Given the description of an element on the screen output the (x, y) to click on. 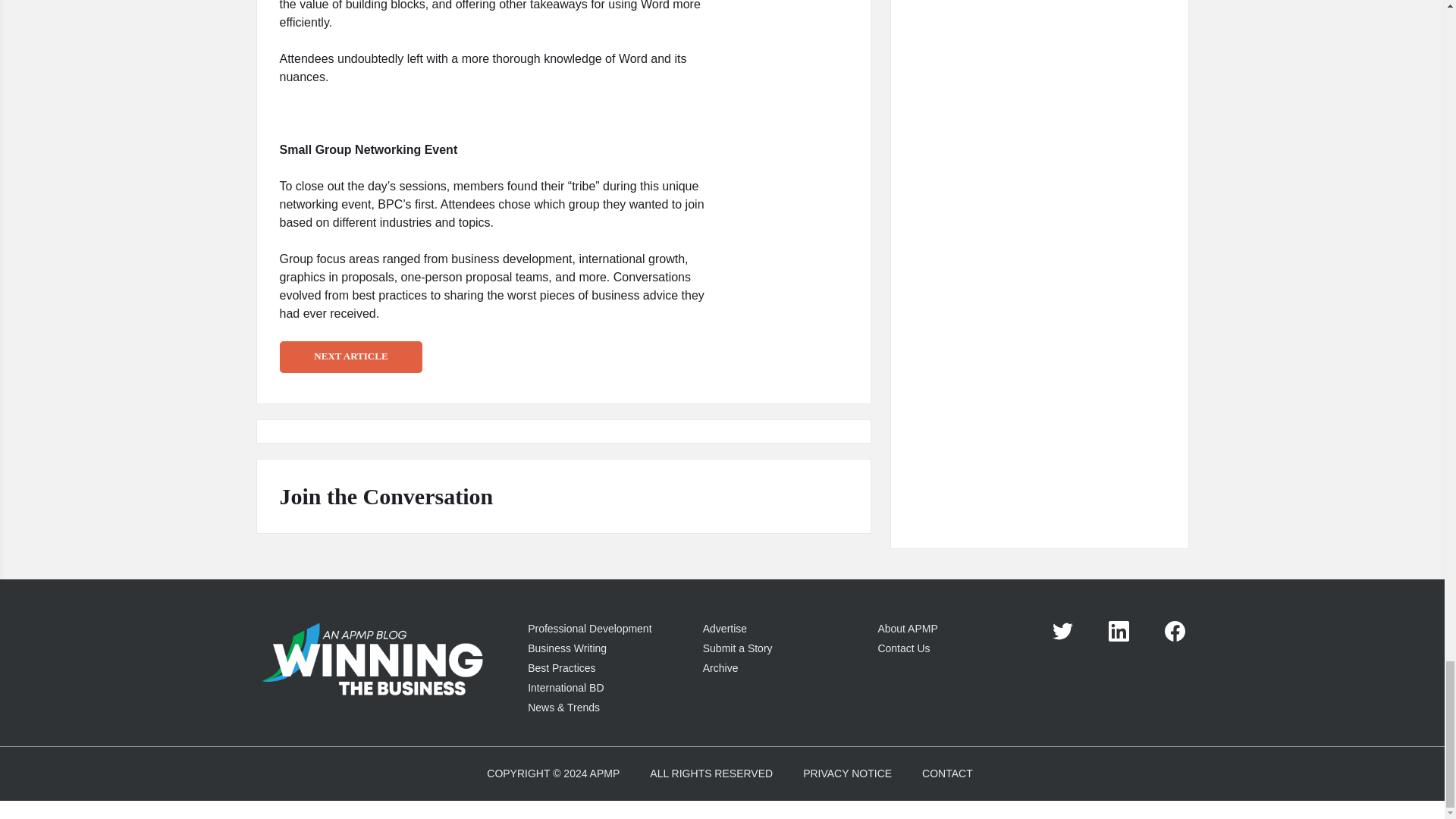
Facebook (1174, 630)
LinkedIn (1118, 630)
Twitter (1062, 630)
